Given the description of an element on the screen output the (x, y) to click on. 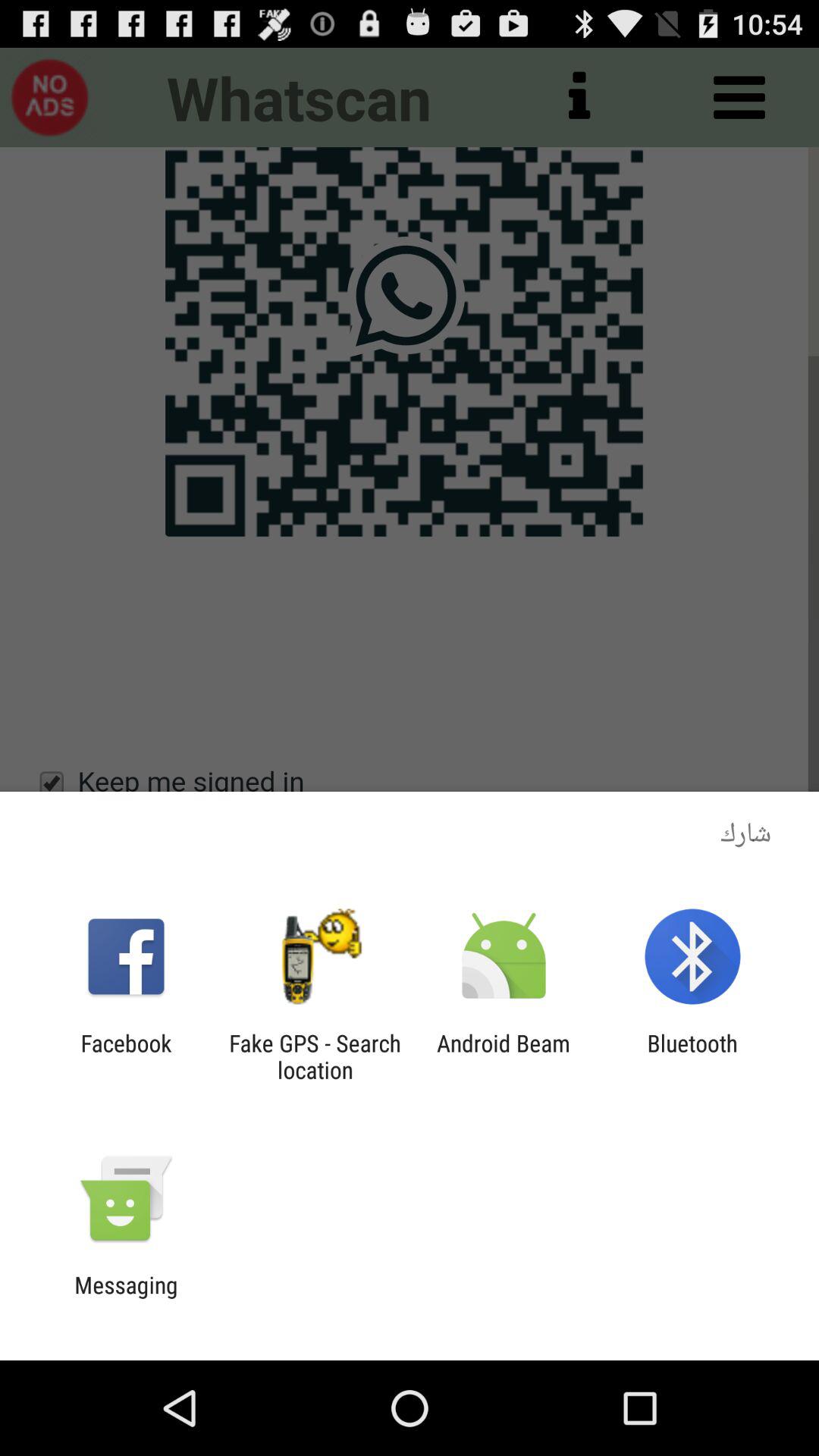
jump to messaging item (126, 1298)
